Given the description of an element on the screen output the (x, y) to click on. 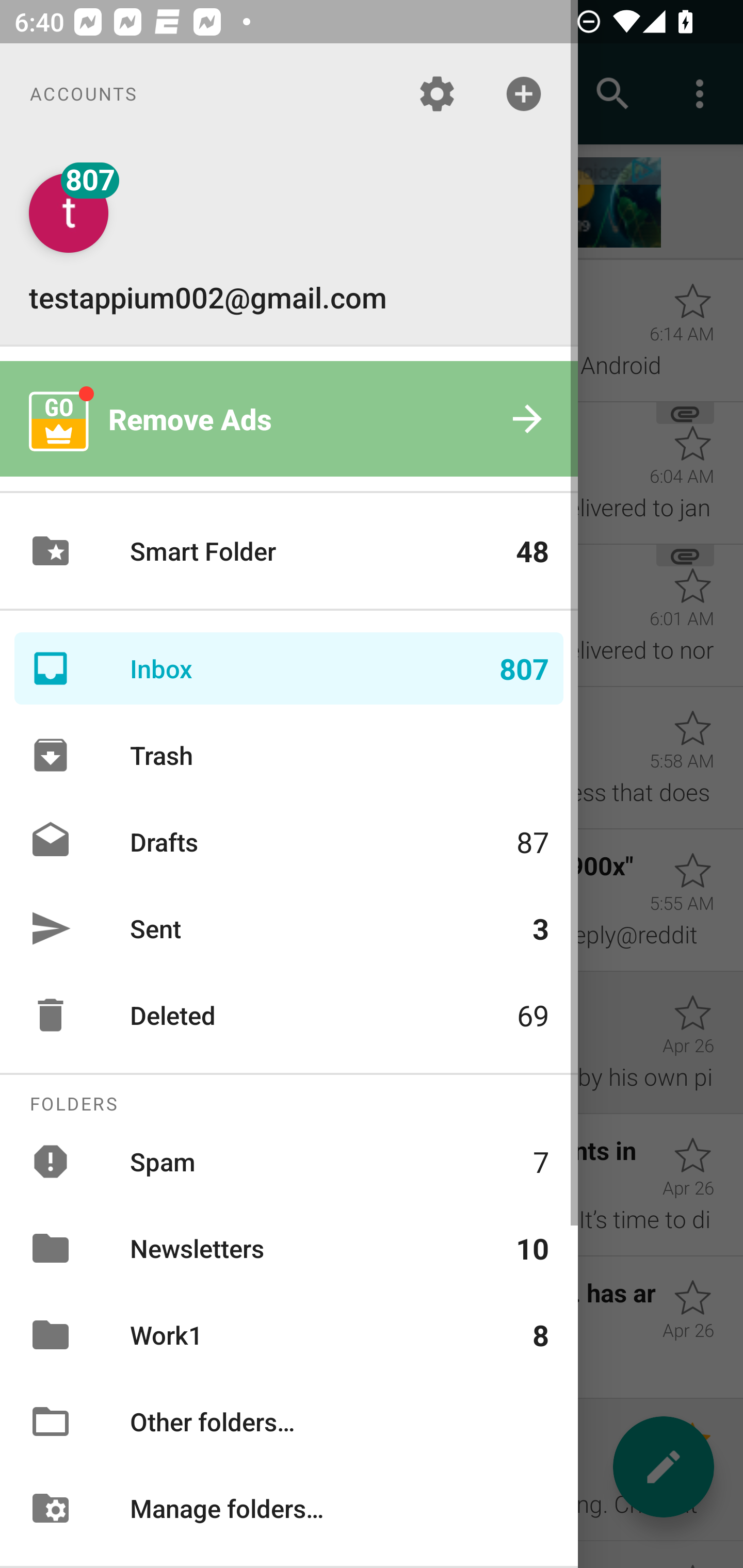
testappium002@gmail.com (289, 244)
Remove Ads (289, 418)
Smart Folder 48 (289, 551)
Inbox 807 (289, 668)
Trash (289, 754)
Drafts 87 (289, 841)
Sent 3 (289, 928)
Deleted 69 (289, 1015)
Spam 7 (289, 1160)
Newsletters 10 (289, 1248)
Work1 8 (289, 1335)
Other folders… (289, 1421)
Manage folders… (289, 1507)
